Given the description of an element on the screen output the (x, y) to click on. 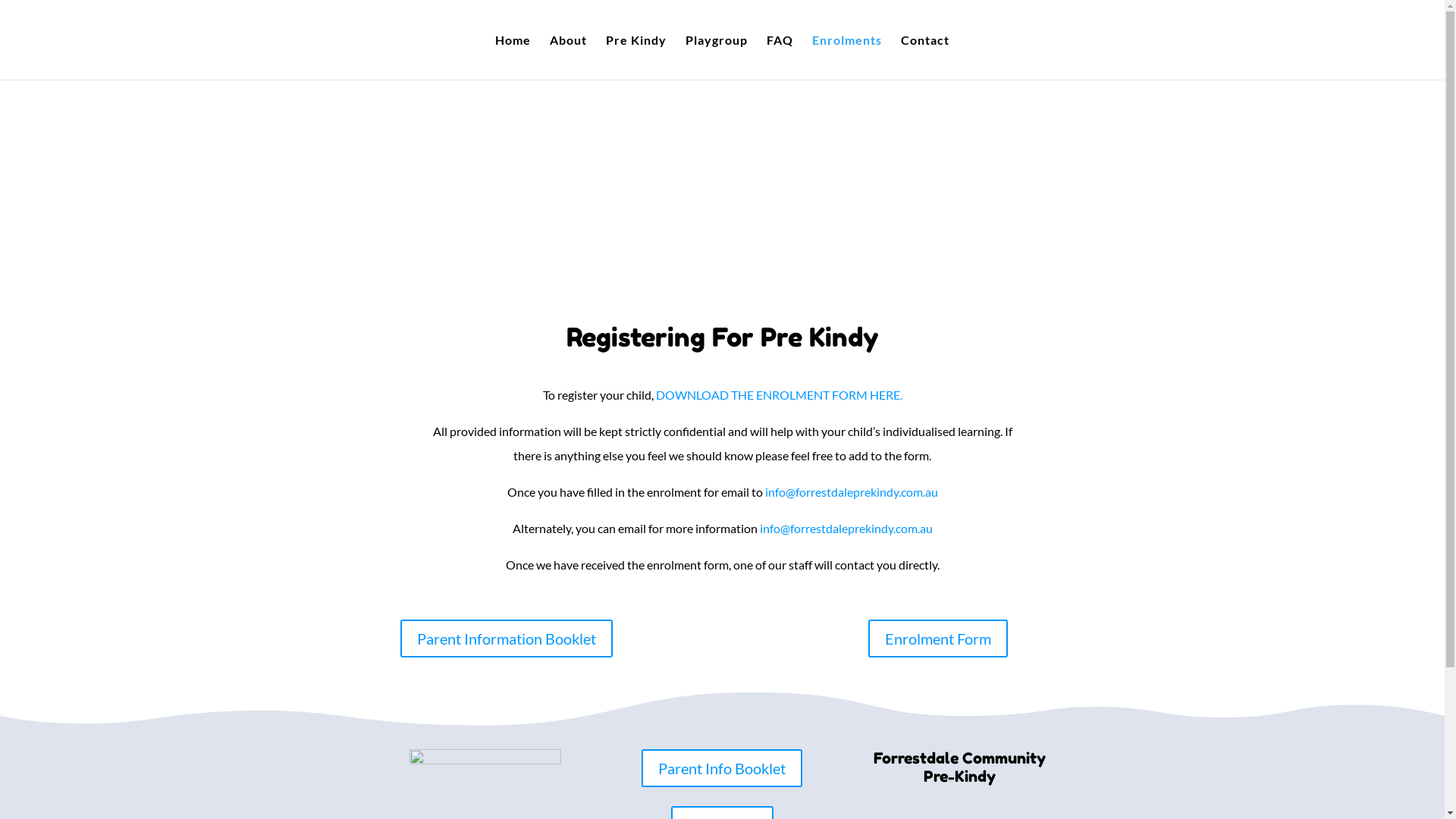
Home Element type: text (512, 56)
Enrolment Form Element type: text (937, 638)
Parent Information Booklet Element type: text (506, 638)
About Element type: text (567, 56)
Parent Info Booklet Element type: text (721, 768)
Enrolments Element type: text (846, 56)
info@forrestdaleprekindy.com.au Element type: text (850, 491)
Contact Element type: text (924, 56)
DOWNLOAD THE ENROLMENT FORM HERE. Element type: text (778, 394)
info@forrestdaleprekindy.com.au Element type: text (845, 527)
Pre Kindy Element type: text (635, 56)
Playgroup Element type: text (716, 56)
FAQ Element type: text (779, 56)
